Given the description of an element on the screen output the (x, y) to click on. 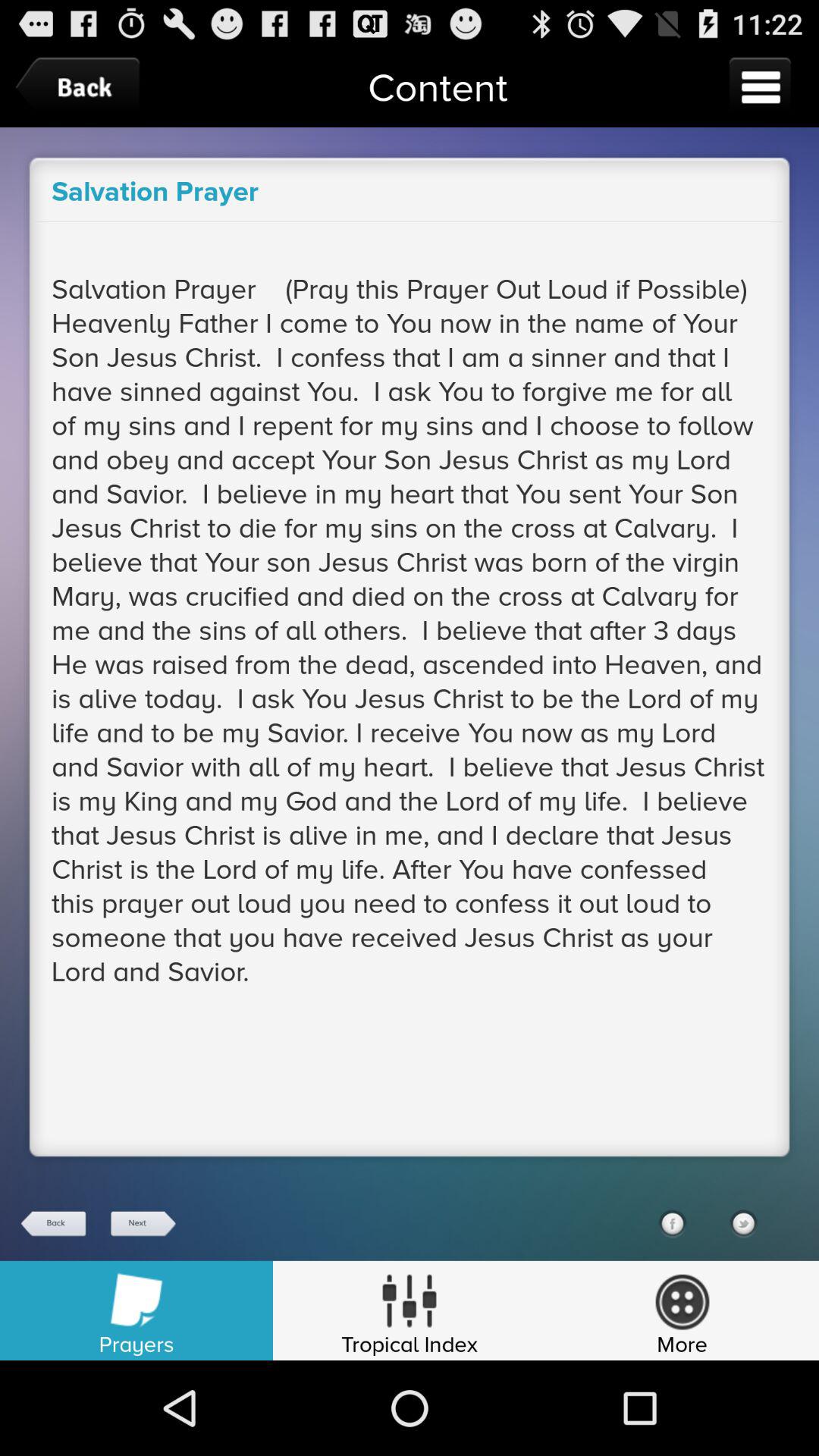
next page (142, 1223)
